Given the description of an element on the screen output the (x, y) to click on. 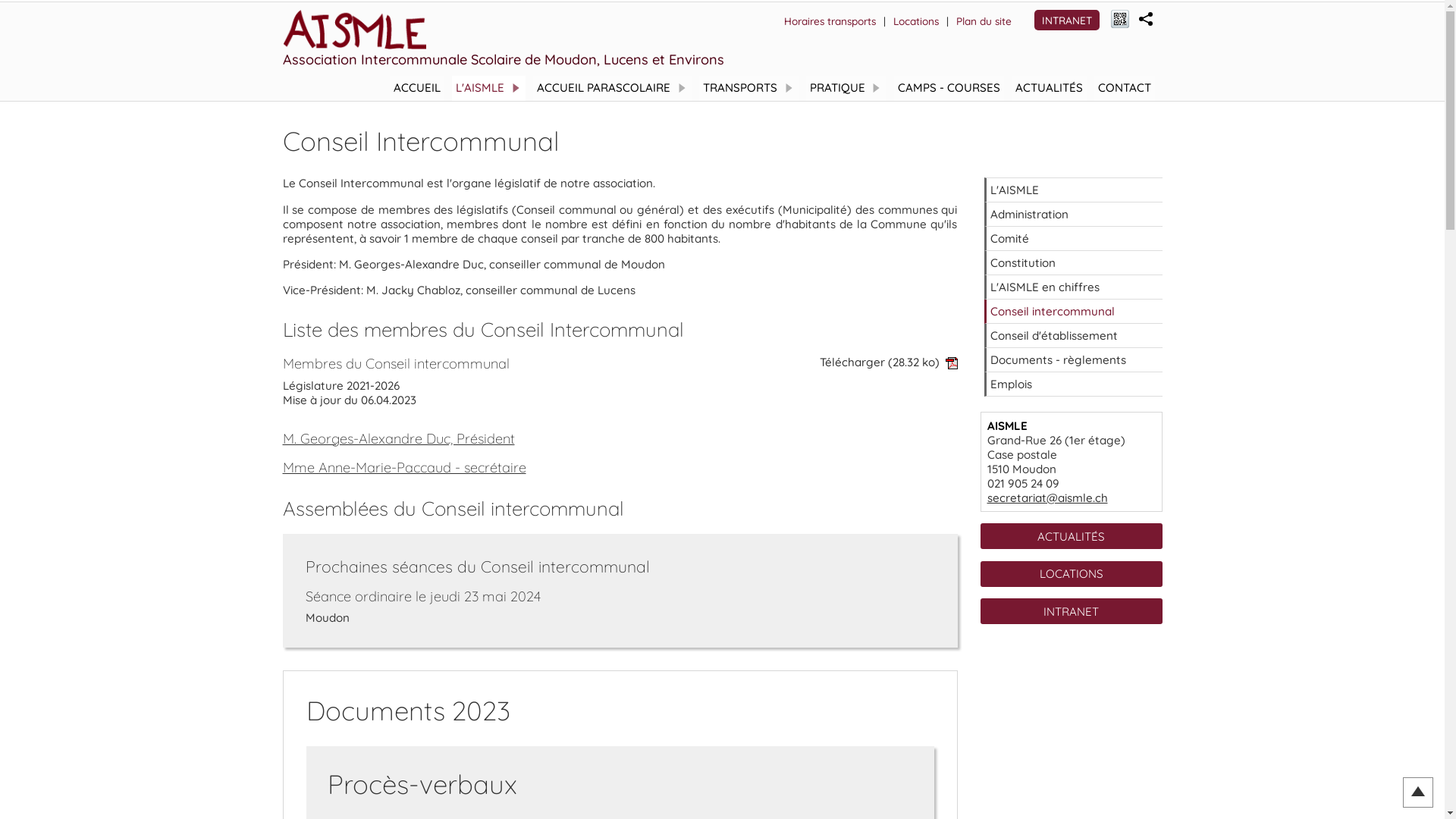
Administration Element type: text (1073, 214)
TRANSPORTS Element type: text (748, 87)
PRATIQUE Element type: text (846, 87)
Constitution Element type: text (1073, 263)
ACCUEIL Element type: text (416, 87)
INTRANET Element type: text (1070, 611)
CAMPS - COURSES Element type: text (948, 87)
INTRANET Element type: text (1066, 19)
Emplois Element type: text (1073, 384)
Afficher le QR-Code Element type: hover (1119, 19)
L'AISMLE en chiffres Element type: text (1073, 287)
ACCUEIL PARASCOLAIRE Element type: text (612, 87)
CONTACT Element type: text (1123, 87)
secretariat@aismle.ch Element type: text (1047, 497)
Conseil intercommunal Element type: text (1073, 311)
Locations Element type: text (915, 20)
Plan du site Element type: text (982, 20)
L'AISMLE Element type: text (488, 87)
Horaires transports Element type: text (829, 20)
L'AISMLE Element type: text (1073, 189)
LOCATIONS Element type: text (1070, 573)
